Given the description of an element on the screen output the (x, y) to click on. 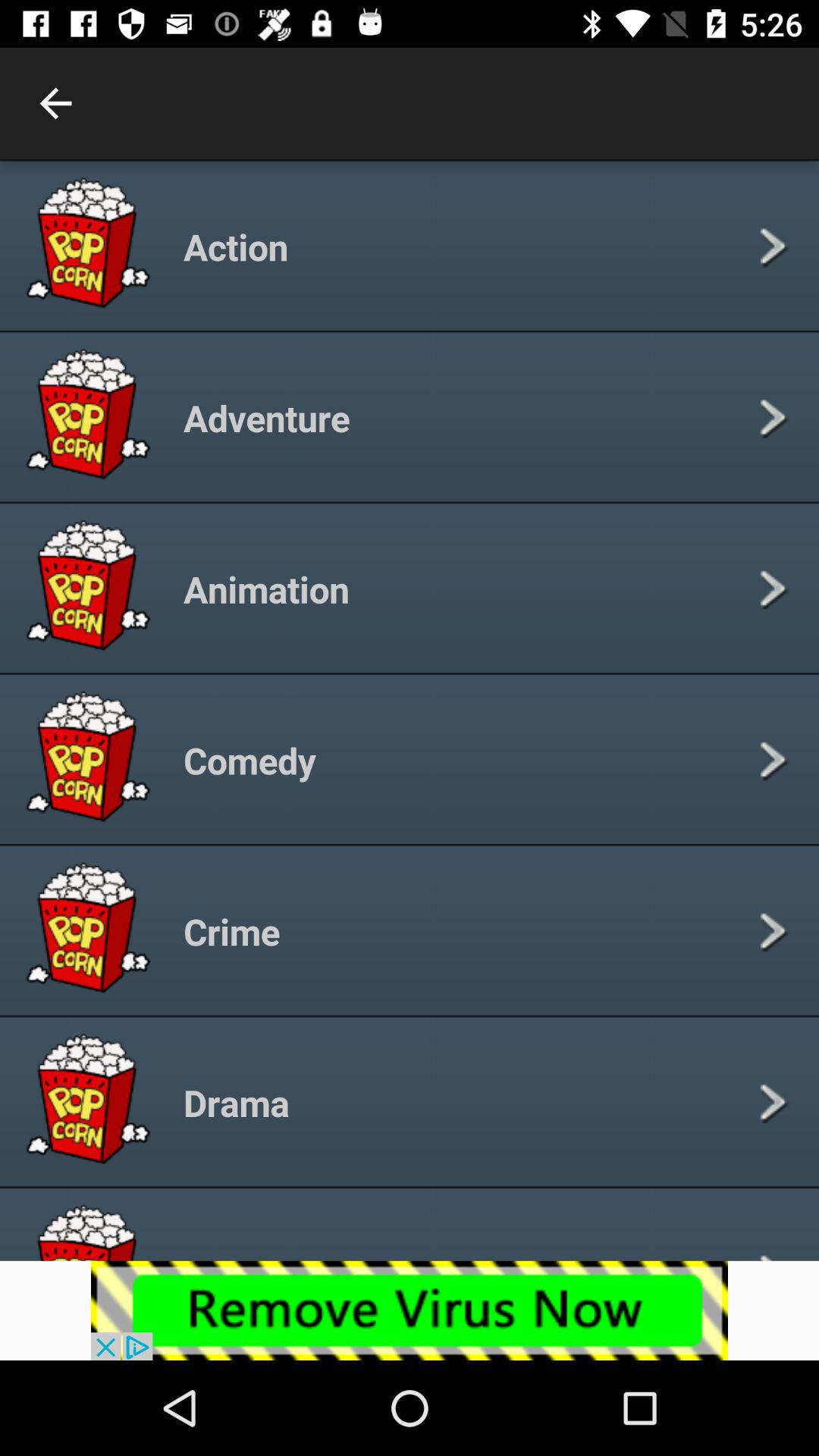
open advertisement (409, 1310)
